Given the description of an element on the screen output the (x, y) to click on. 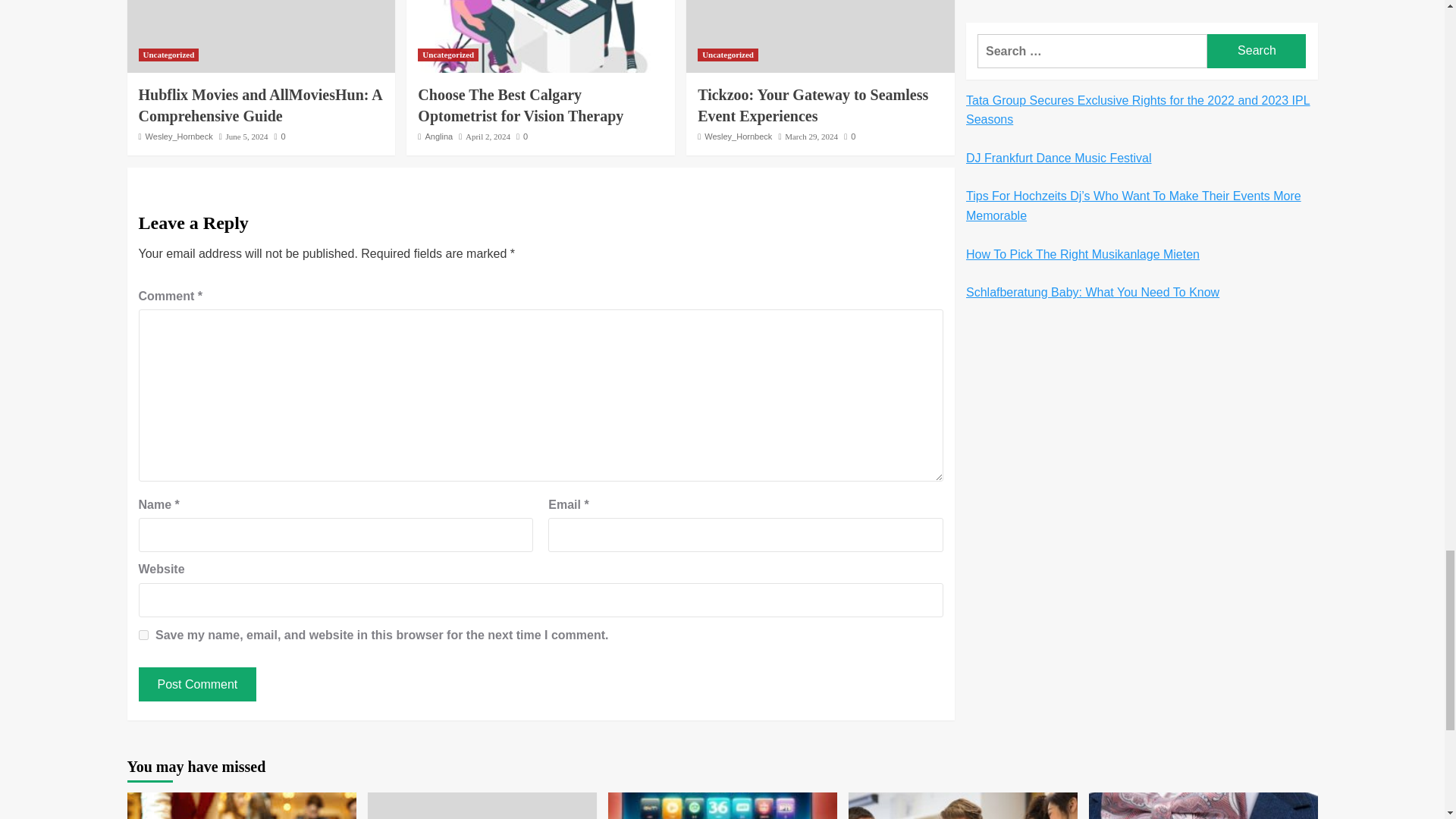
Uncategorized (448, 54)
Post Comment (197, 684)
Choose The Best Calgary Optometrist for Vision Therapy (520, 105)
Uncategorized (168, 54)
Anglina (438, 135)
0 (521, 135)
yes (143, 634)
June 5, 2024 (246, 135)
Hubflix Movies and AllMoviesHun: A Comprehensive Guide (259, 105)
Tickzoo: Your Gateway to Seamless Event Experiences (812, 105)
0 (279, 135)
Uncategorized (727, 54)
April 2, 2024 (488, 135)
